Given the description of an element on the screen output the (x, y) to click on. 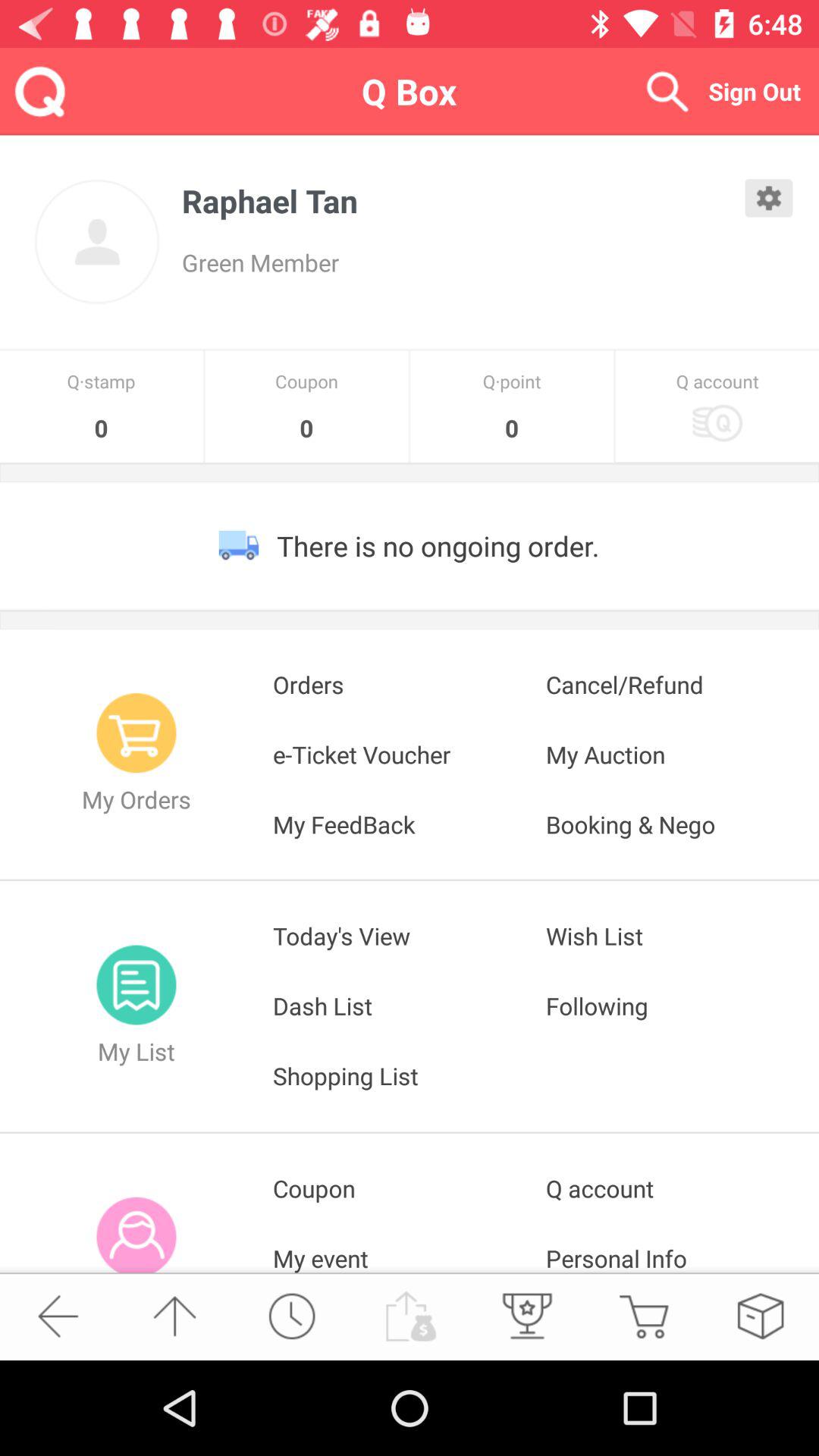
launch booking & nego (682, 824)
